Given the description of an element on the screen output the (x, y) to click on. 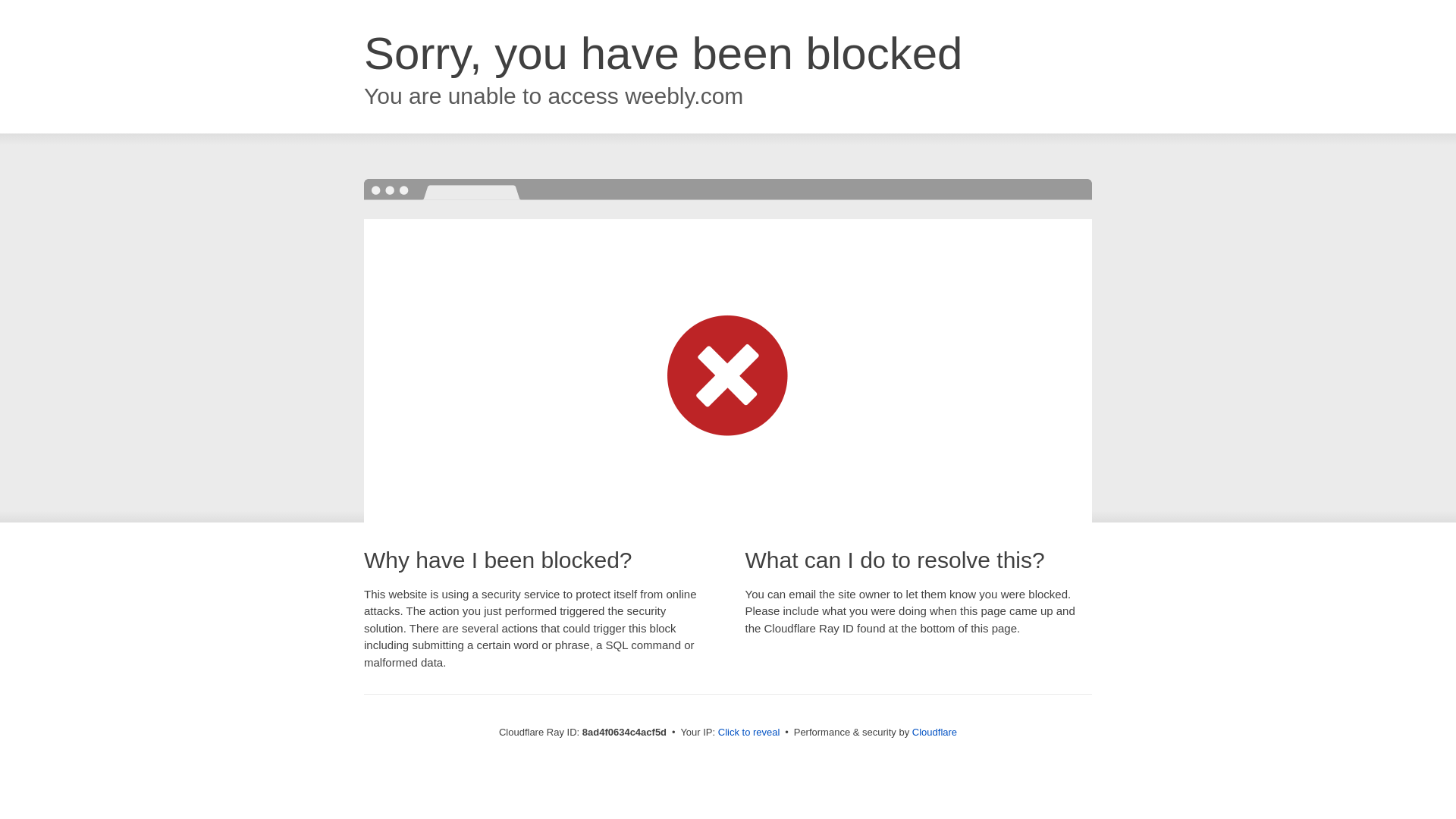
Cloudflare (934, 731)
Click to reveal (748, 732)
